Given the description of an element on the screen output the (x, y) to click on. 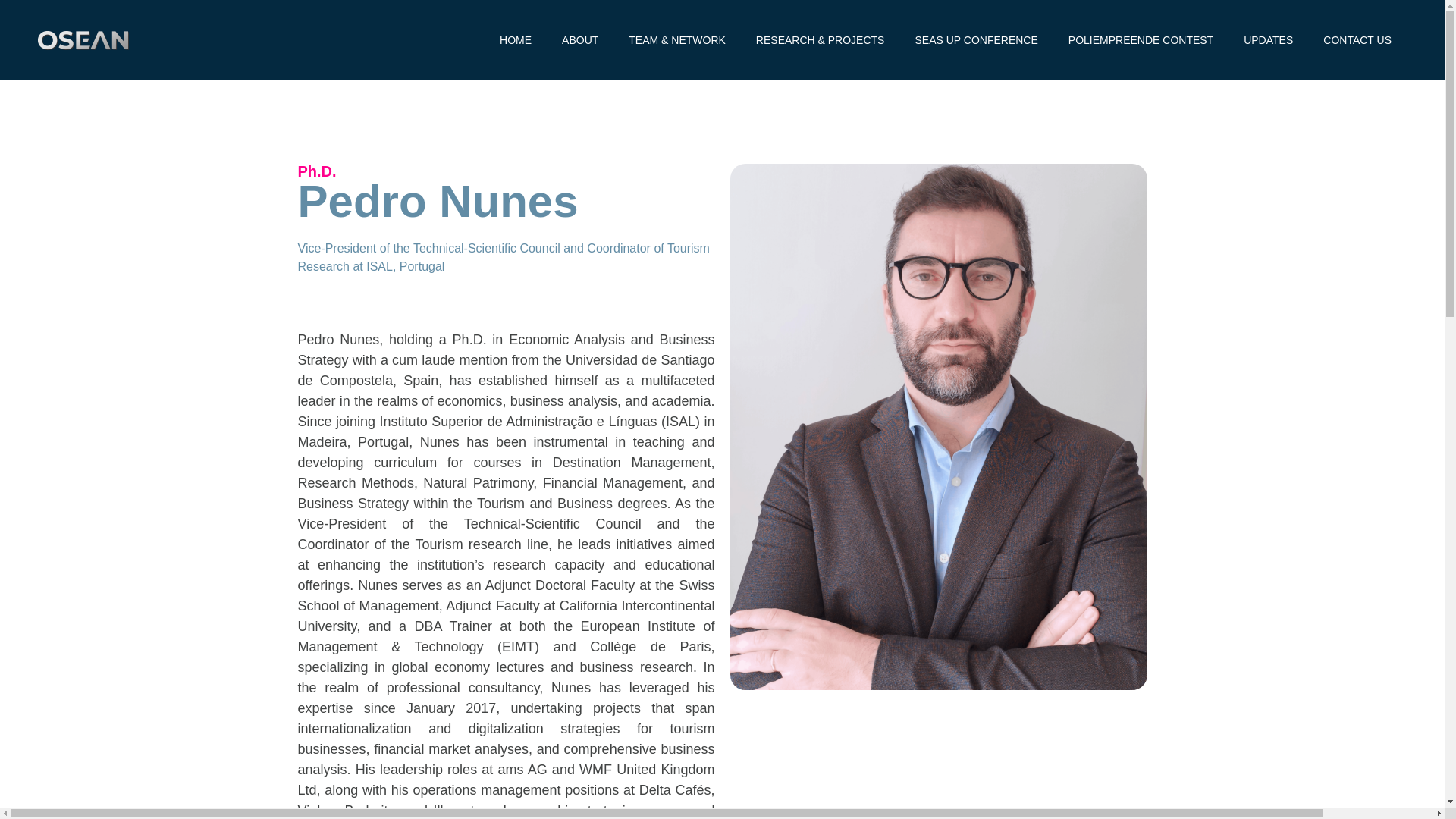
CONTACT US (1356, 39)
POLIEMPREENDE CONTEST (1140, 39)
SEAS UP CONFERENCE (975, 39)
HOME (515, 39)
ABOUT (579, 39)
OSEAN-logo-120 (83, 39)
UPDATES (1267, 39)
